Given the description of an element on the screen output the (x, y) to click on. 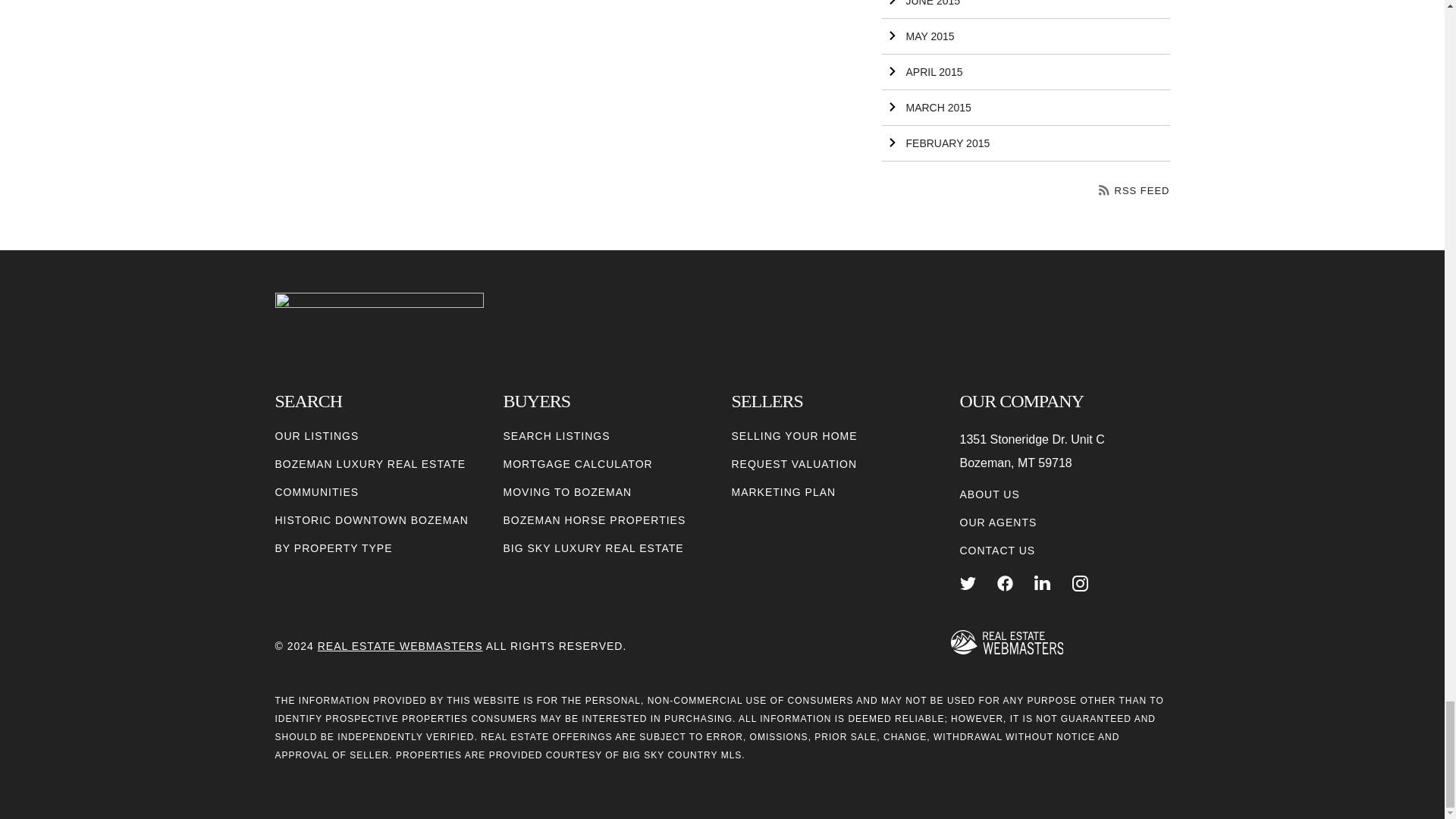
RSS FEED (1134, 190)
